Given the description of an element on the screen output the (x, y) to click on. 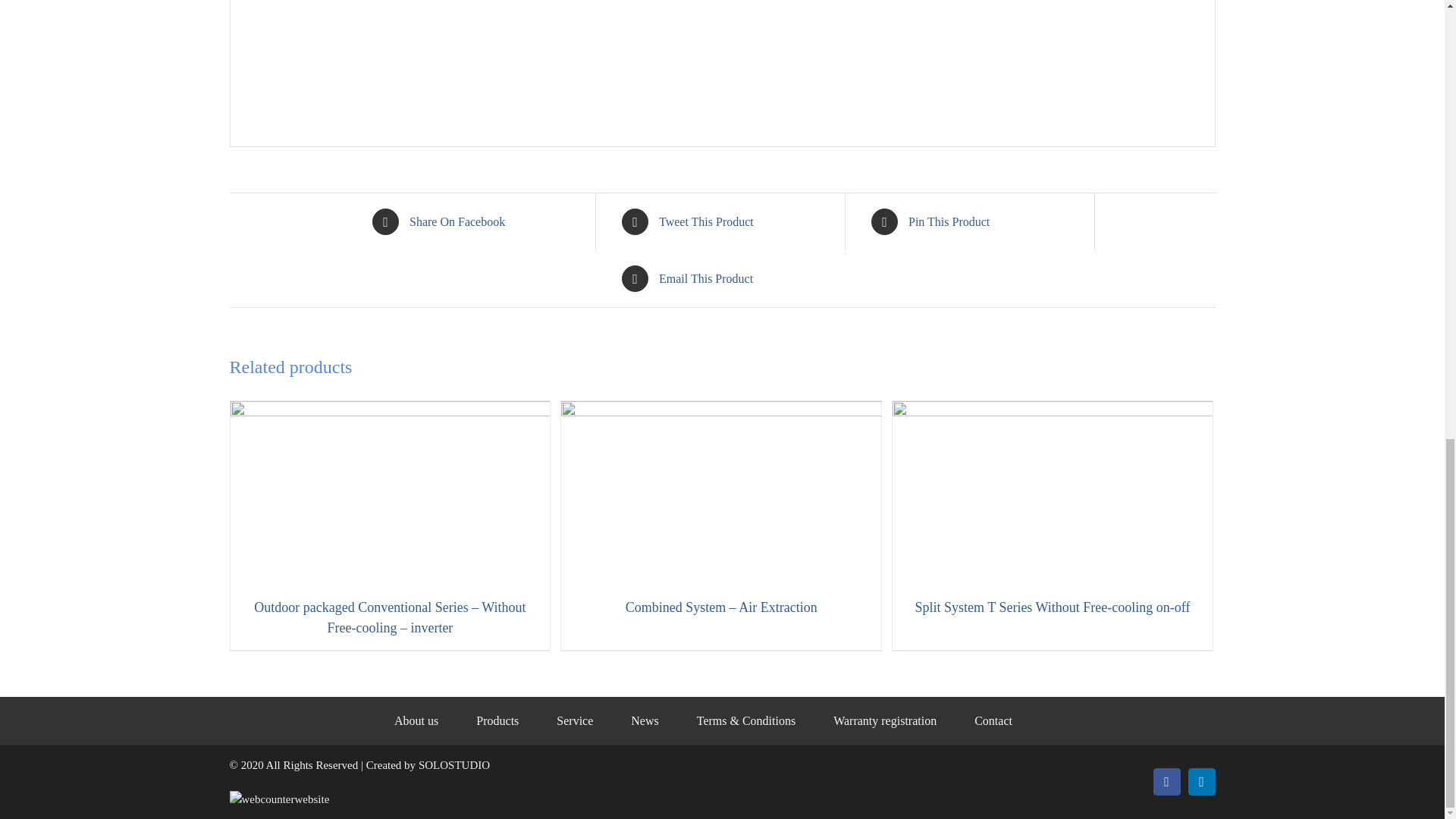
Facebook (1166, 781)
LinkedIn (1201, 781)
User Stats (278, 799)
